Given the description of an element on the screen output the (x, y) to click on. 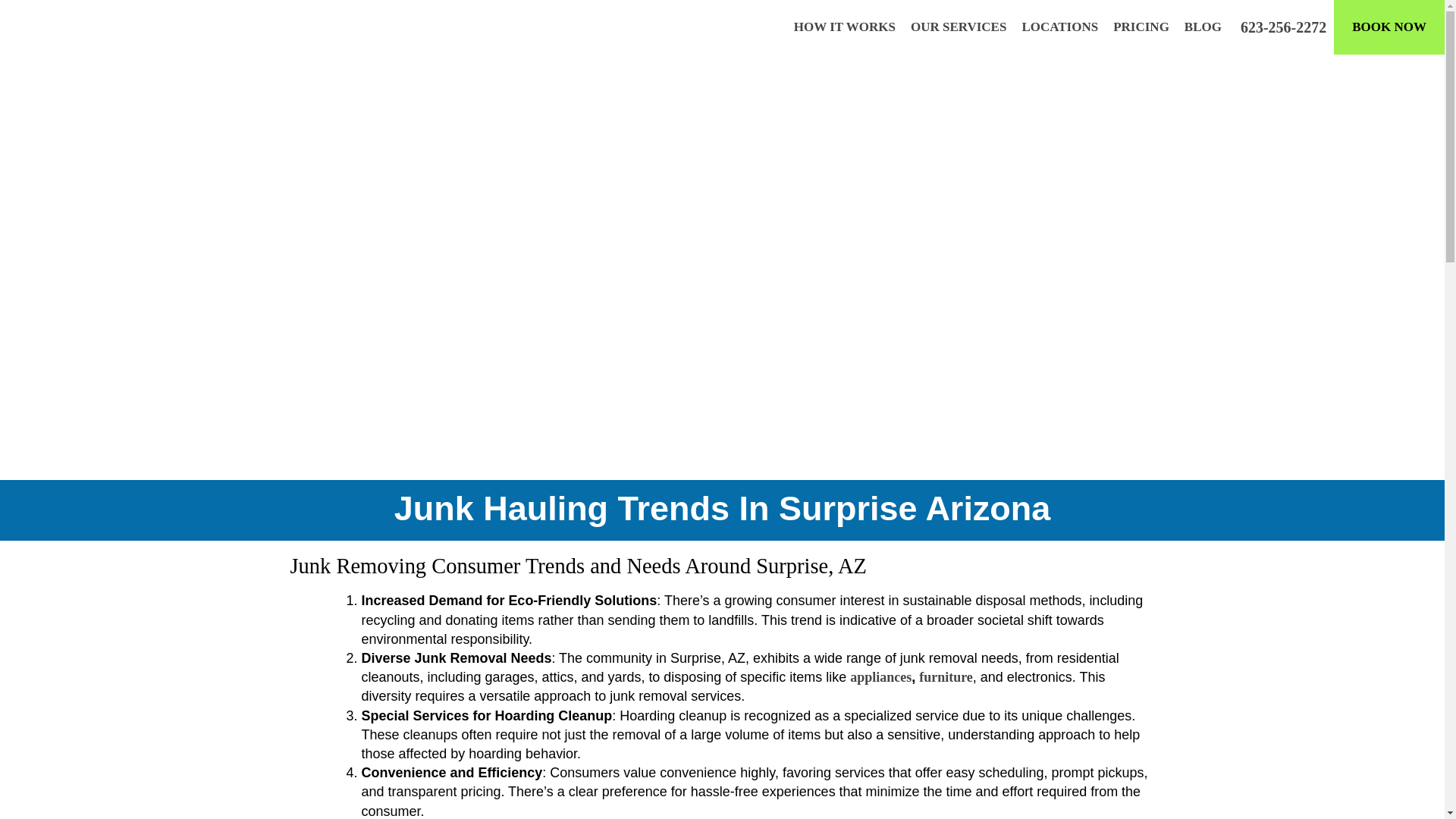
623-256-2272 (1281, 26)
LOCATIONS (1059, 27)
OUR SERVICES (958, 27)
appliances (880, 676)
PRICING (1141, 27)
HOW IT WORKS (844, 27)
BLOG (1203, 27)
